Given the description of an element on the screen output the (x, y) to click on. 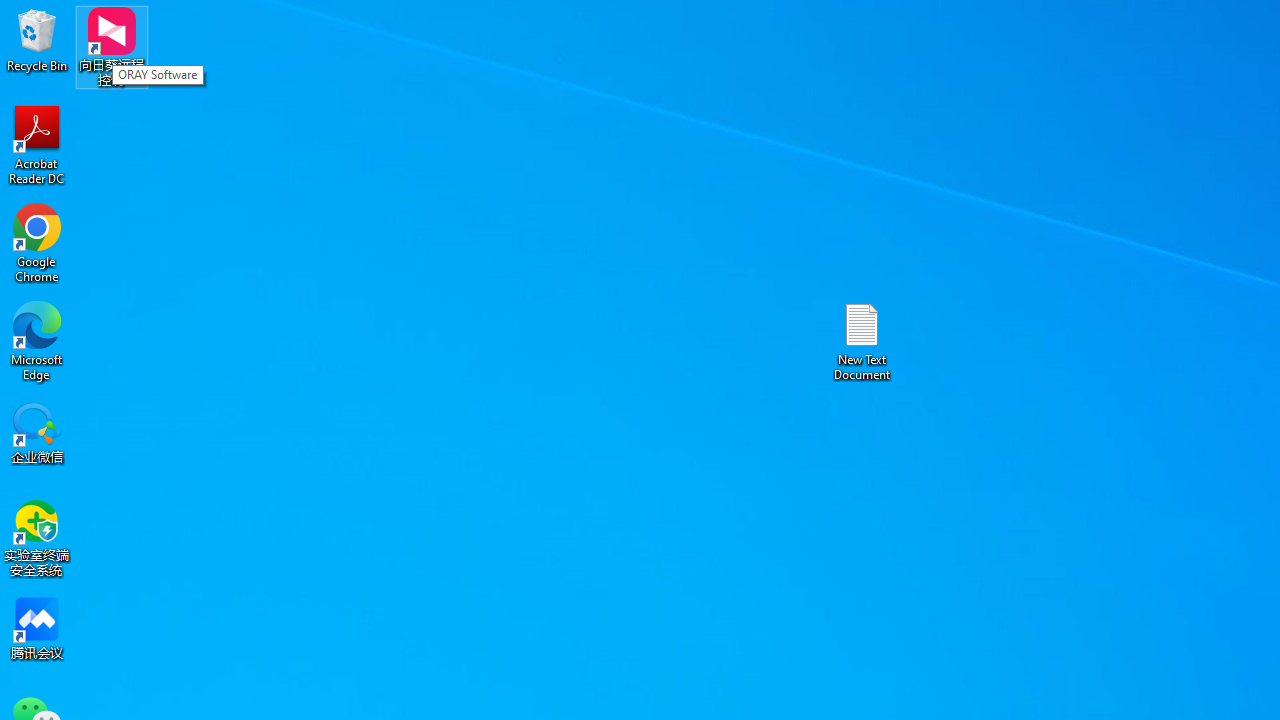
Recycle Bin (37, 39)
New Text Document (861, 340)
Microsoft Edge (37, 340)
Google Chrome (37, 242)
Acrobat Reader DC (37, 144)
